Given the description of an element on the screen output the (x, y) to click on. 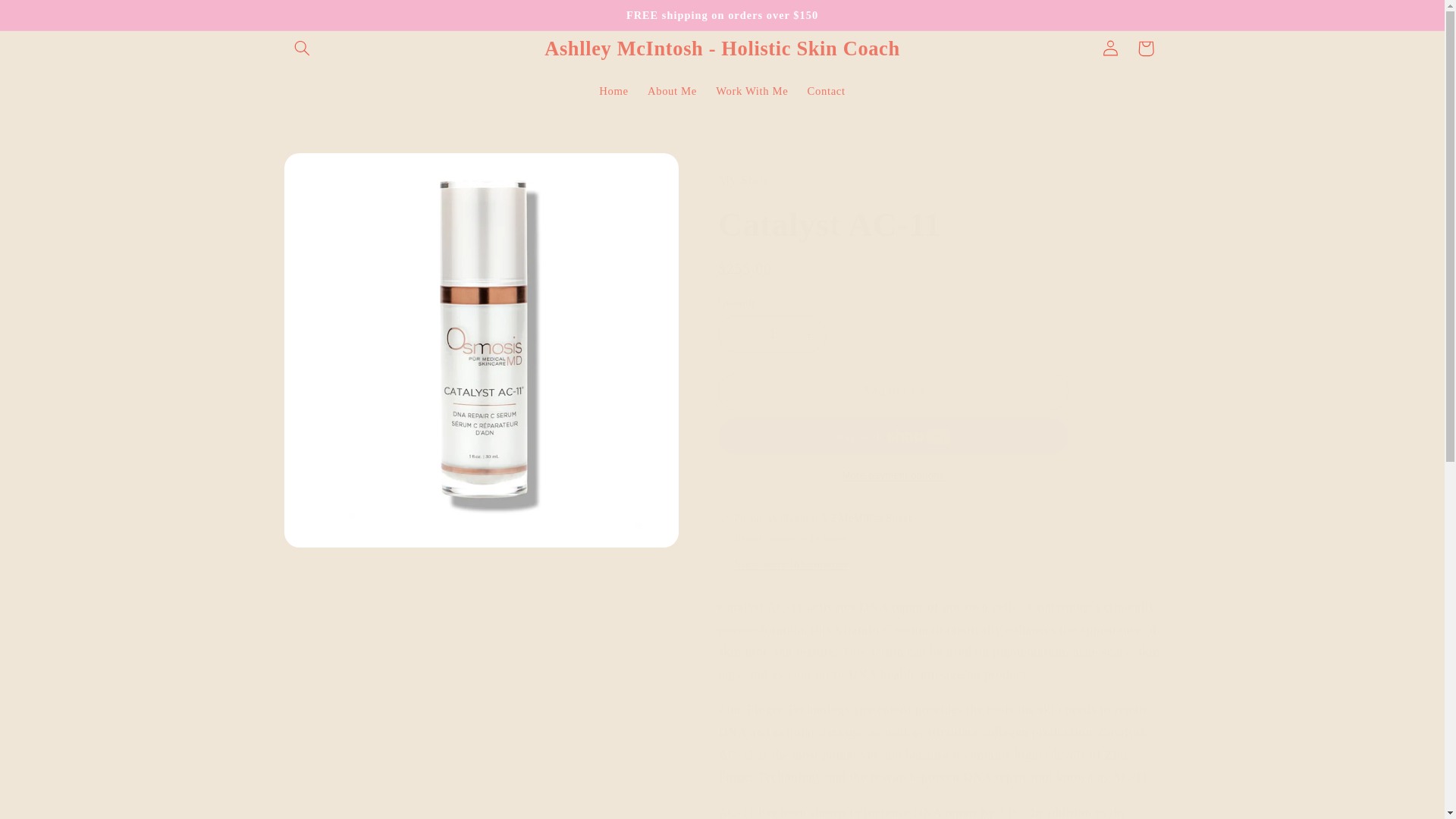
About Me (671, 90)
Add to cart (892, 391)
1 (771, 333)
More payment options (892, 475)
Cart (1145, 48)
Decrease quantity for Catalyst AC-11 (735, 333)
Increase quantity for Catalyst AC-11 (807, 333)
Log in (1110, 48)
Skip to content (48, 18)
Skip to product information (331, 170)
Home (614, 90)
View store information (790, 564)
Ashlley McIntosh - Holistic Skin Coach (721, 48)
Work With Me (751, 90)
